Given the description of an element on the screen output the (x, y) to click on. 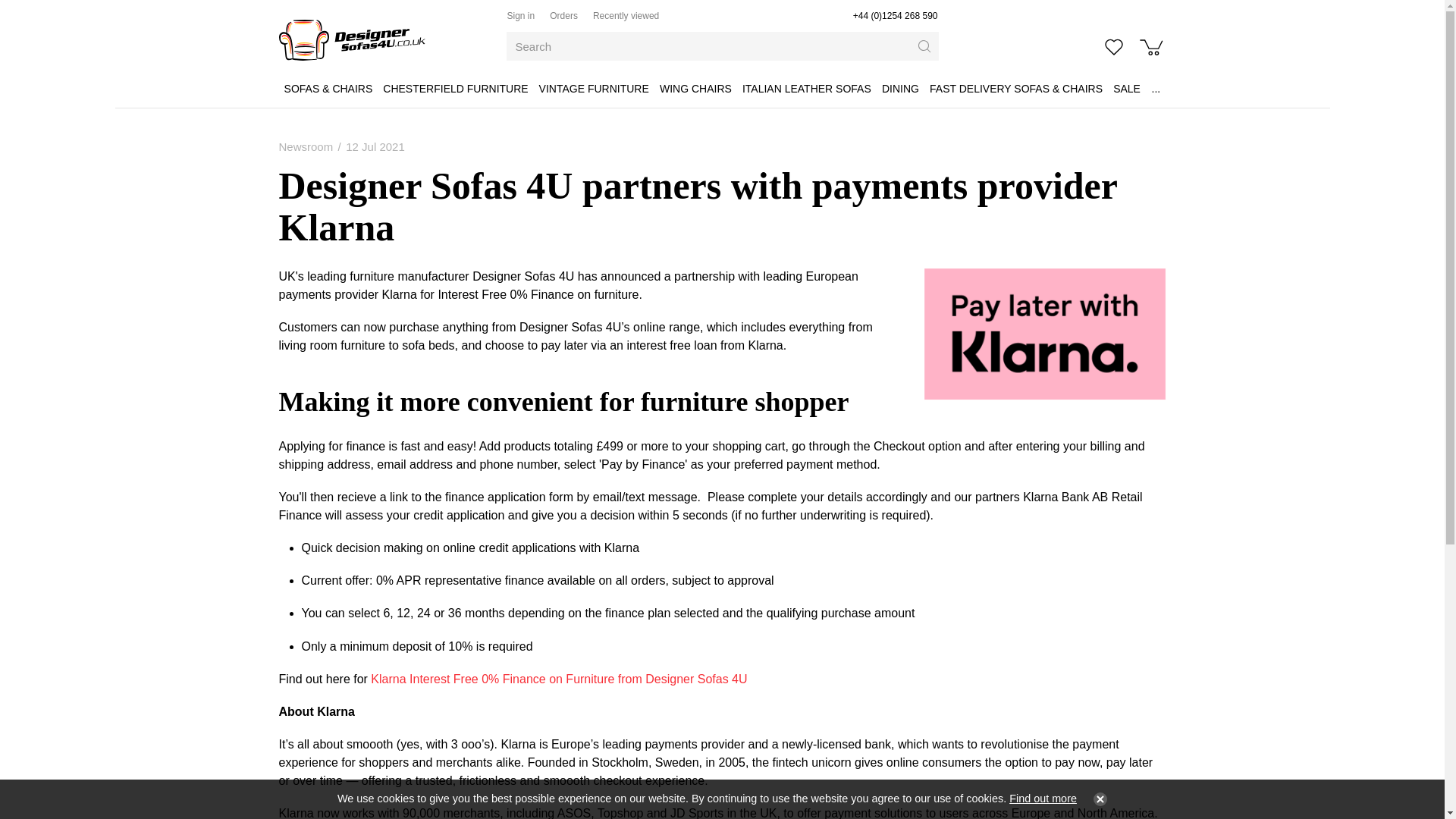
Orders (564, 15)
Order tracking (564, 15)
Search (924, 45)
Recently viewed (625, 15)
Recently viewed products (625, 15)
Sign in (520, 15)
Klarna zero intrest finance furniture (1044, 333)
